Given the description of an element on the screen output the (x, y) to click on. 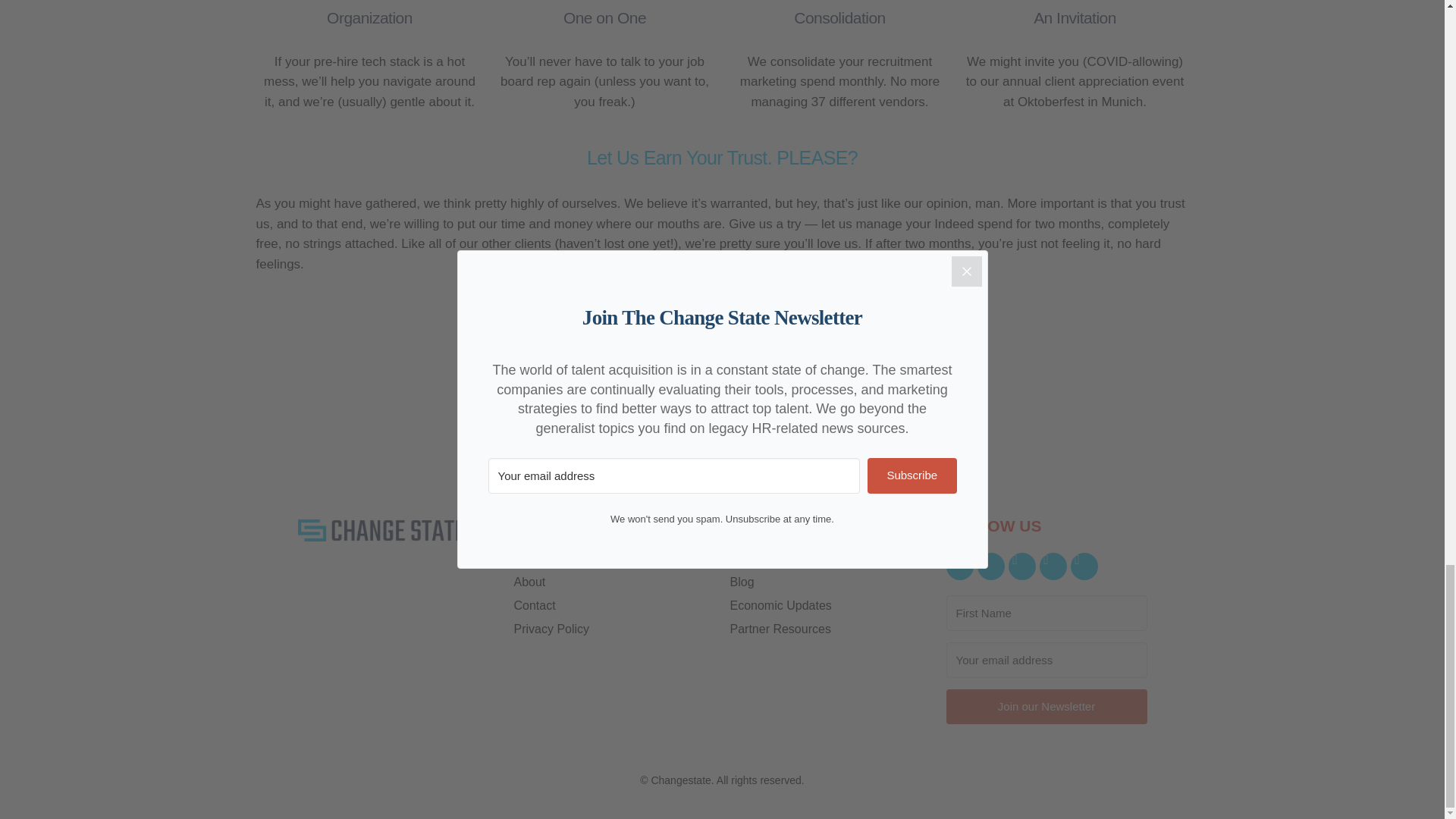
Podcast (829, 558)
Partner Resources (829, 629)
Contact (613, 605)
About (613, 582)
Home (613, 558)
Blog (829, 582)
Privacy Policy (613, 629)
Economic Updates (829, 605)
CONTACT (721, 358)
